Given the description of an element on the screen output the (x, y) to click on. 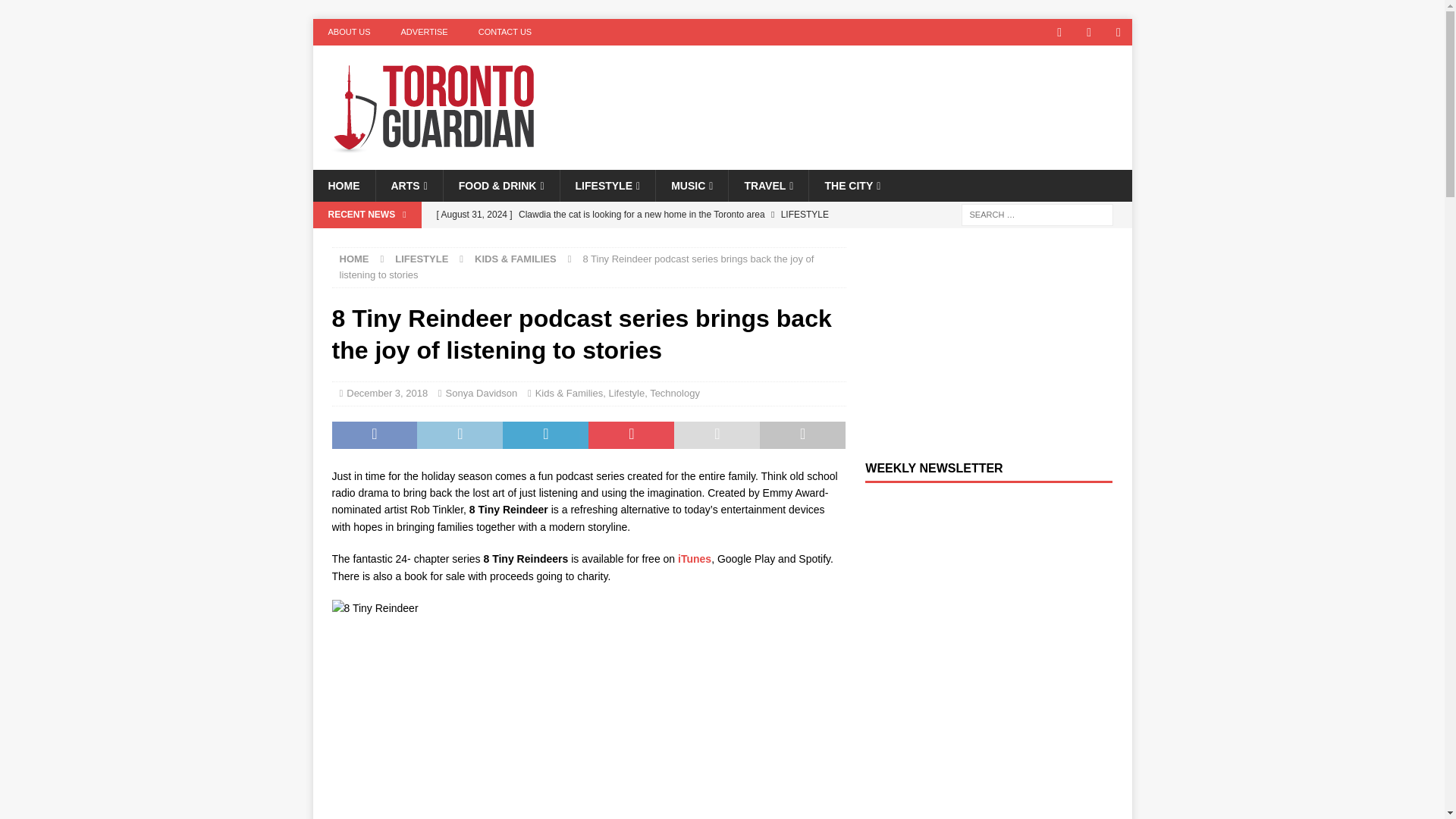
HOME (343, 185)
ADVERTISE (424, 31)
Five Minutes With: Toronto Musician Gene Champagne (636, 240)
CONTACT US (505, 31)
ARTS (408, 185)
TRAVEL (768, 185)
ABOUT US (349, 31)
LIFESTYLE (607, 185)
MUSIC (691, 185)
